Given the description of an element on the screen output the (x, y) to click on. 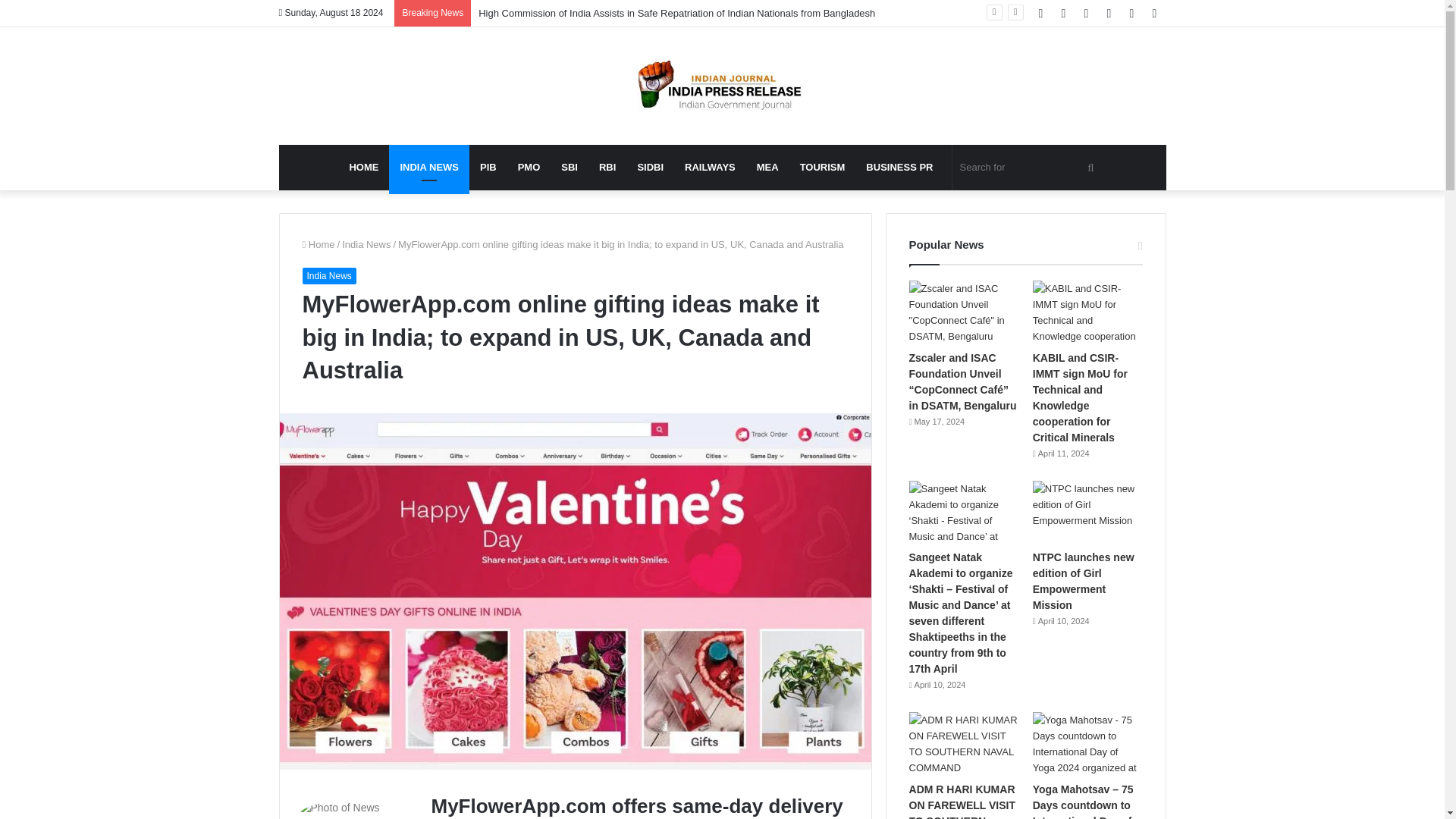
Search for (1029, 167)
TOURISM (822, 167)
BUSINESS PR (899, 167)
INDIA NEWS (428, 167)
India News (366, 244)
RAILWAYS (709, 167)
PMO (528, 167)
Indian Government Official Press Release (722, 85)
MEA (767, 167)
Home (317, 244)
